Given the description of an element on the screen output the (x, y) to click on. 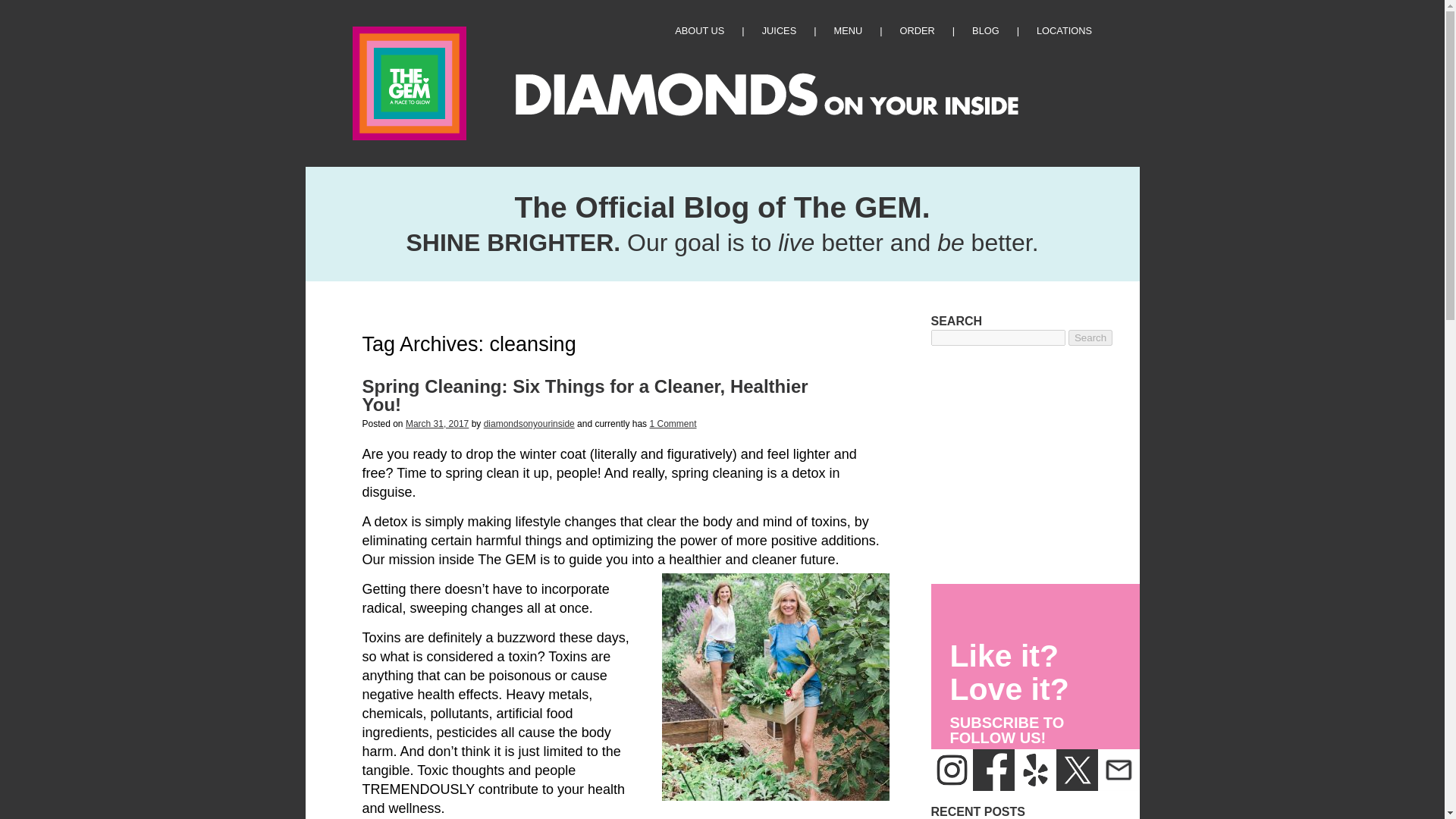
March 31, 2017 (437, 423)
LOCATIONS (1055, 30)
View all posts by diamondsonyourinside (529, 423)
ABOUT US (699, 30)
diamondsonyourinside (529, 423)
BLOG (985, 30)
Spring Cleaning: Six Things for a Cleaner, Healthier You! (585, 394)
Search (1090, 337)
ORDER (917, 30)
5:00 am (437, 423)
JUICES (778, 30)
MENU (848, 30)
